Given the description of an element on the screen output the (x, y) to click on. 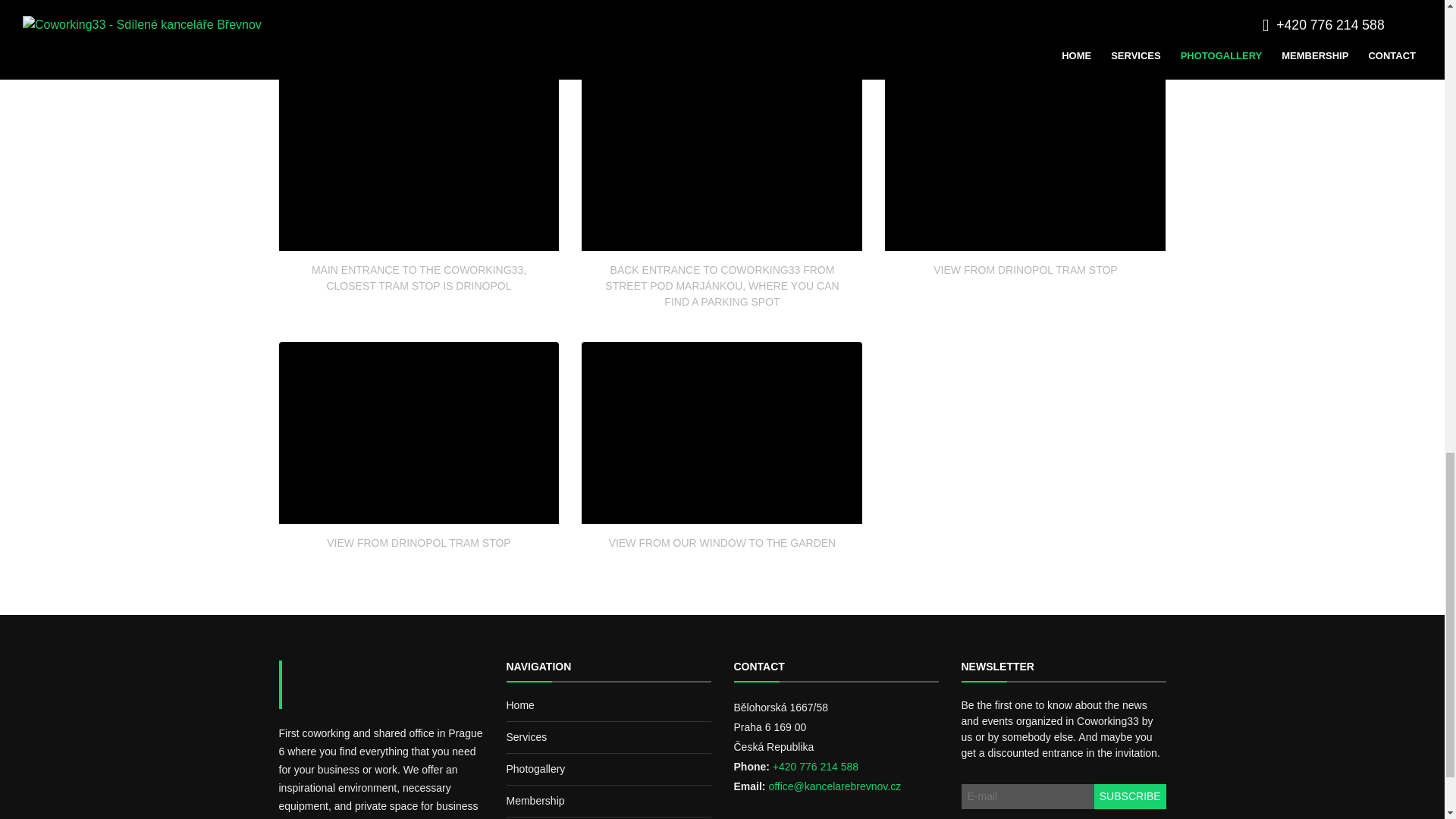
Services (526, 736)
SUBSCRIBE (1130, 796)
SUBSCRIBE (1130, 796)
VIEW FROM DRINOPOL TRAM STOP (1025, 193)
Photogallery (536, 768)
Membership (535, 800)
VIEW FROM OUR WINDOW TO THE GARDEN (720, 467)
Home (520, 705)
VIEW FROM DRINOPOL TRAM STOP (419, 467)
